Given the description of an element on the screen output the (x, y) to click on. 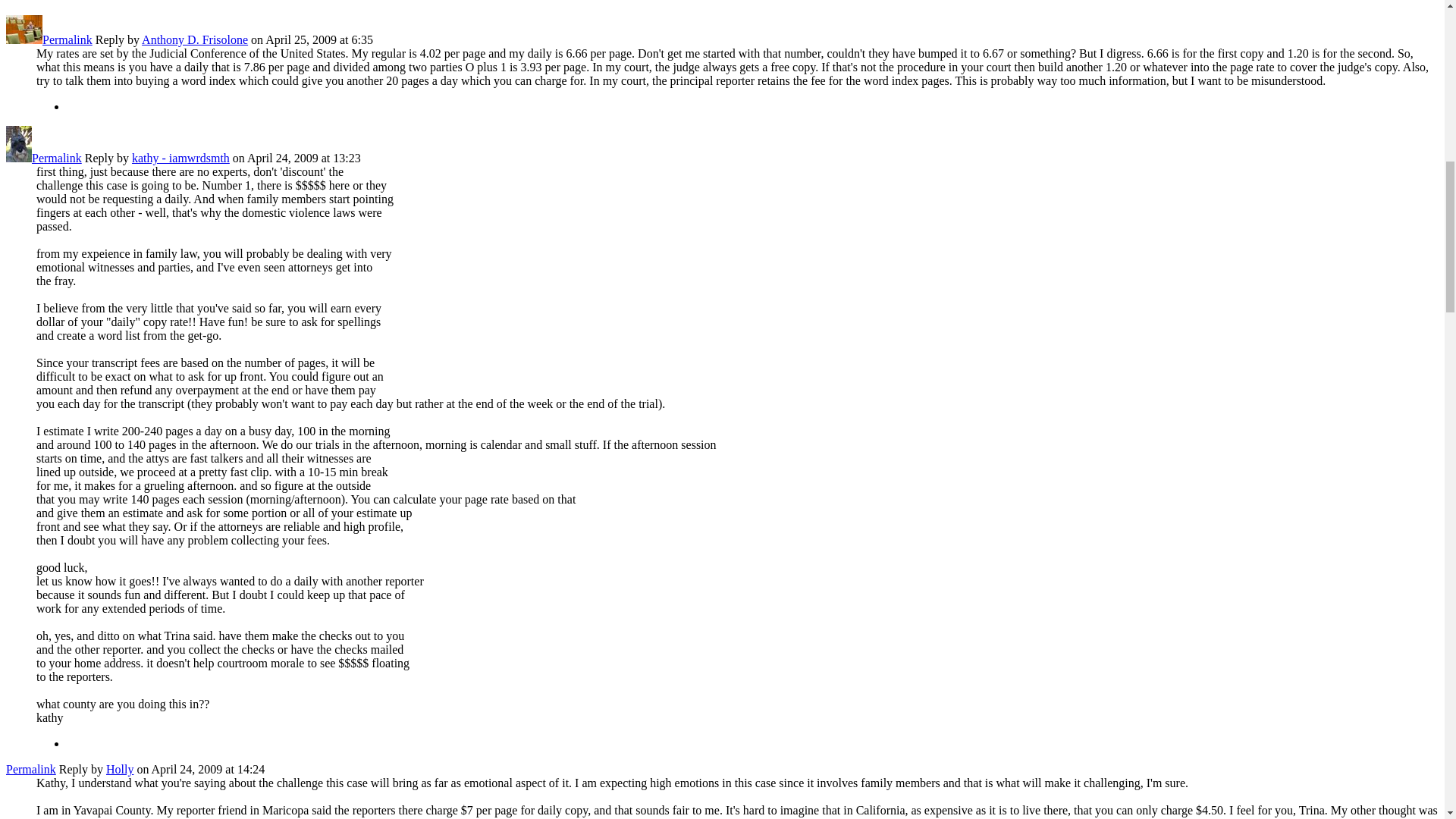
Permalink to this Reply (56, 157)
kathy - iamwrdsmth (18, 157)
Anthony D. Frisolone (23, 39)
Permalink to this Reply (30, 768)
Permalink to this Reply (67, 39)
